Given the description of an element on the screen output the (x, y) to click on. 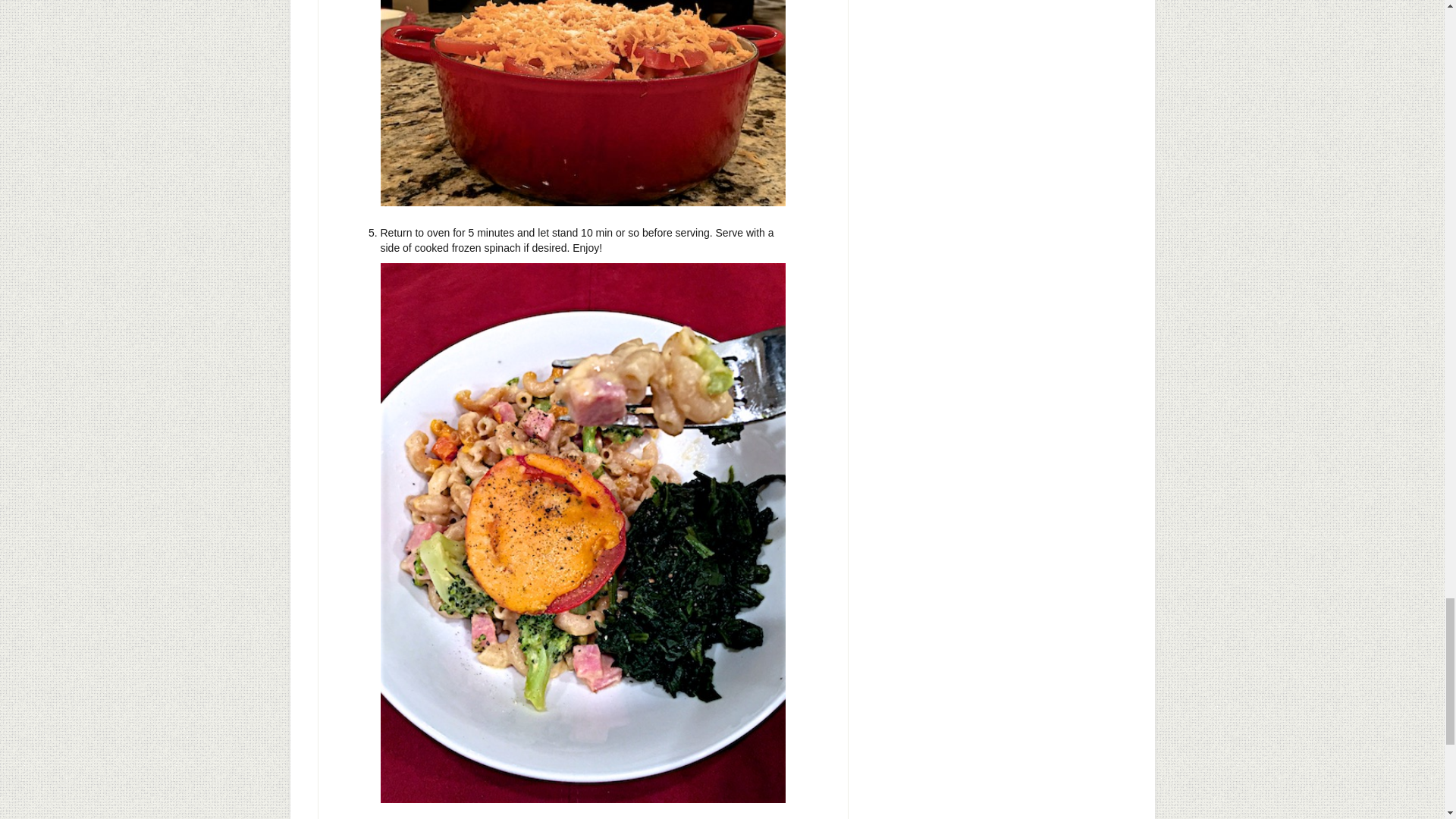
Toms and Cheese (583, 103)
